Given the description of an element on the screen output the (x, y) to click on. 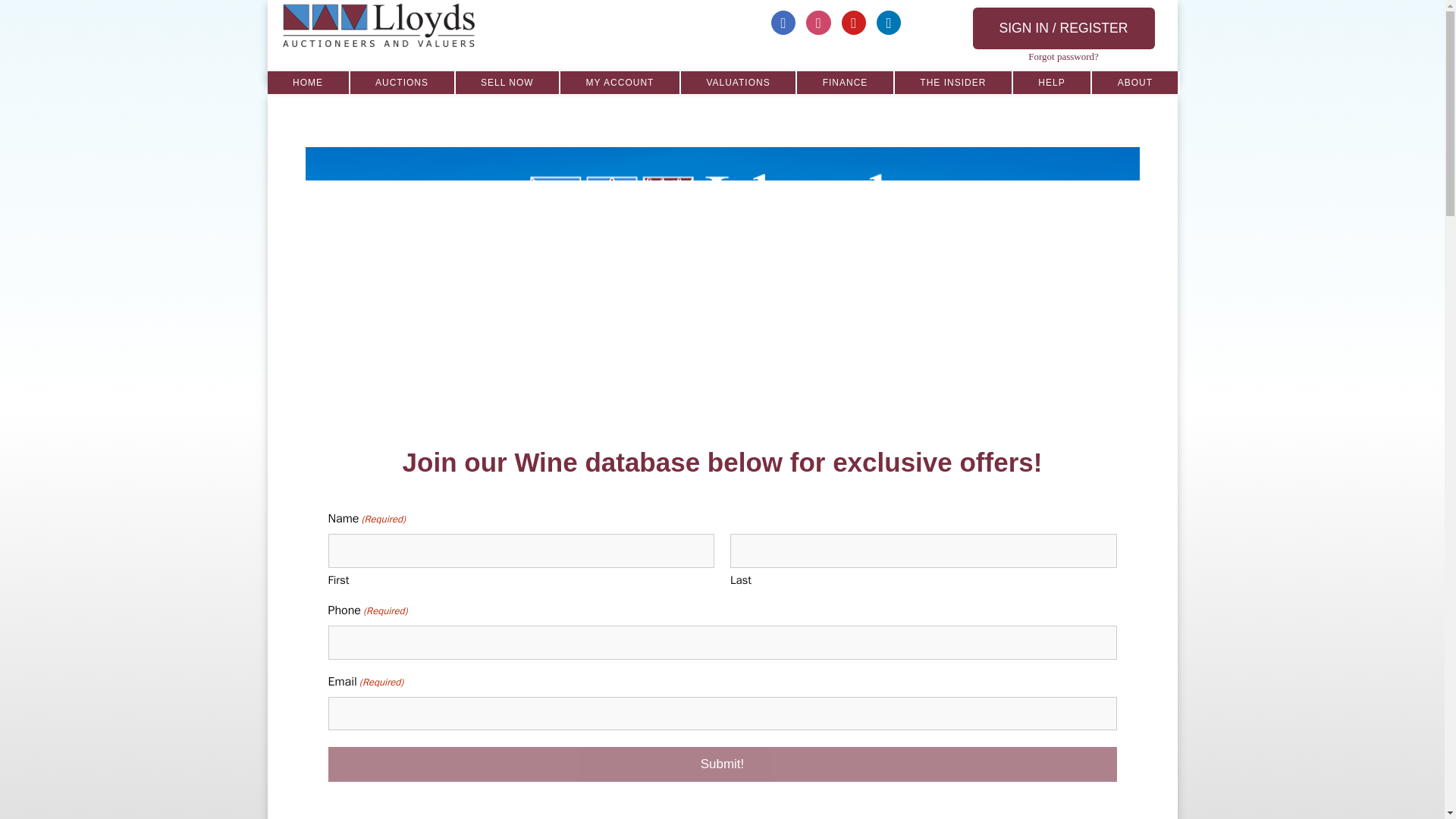
AUCTIONS (402, 82)
Submit! (721, 764)
HOME (307, 82)
Forgot password? (1063, 56)
